Given the description of an element on the screen output the (x, y) to click on. 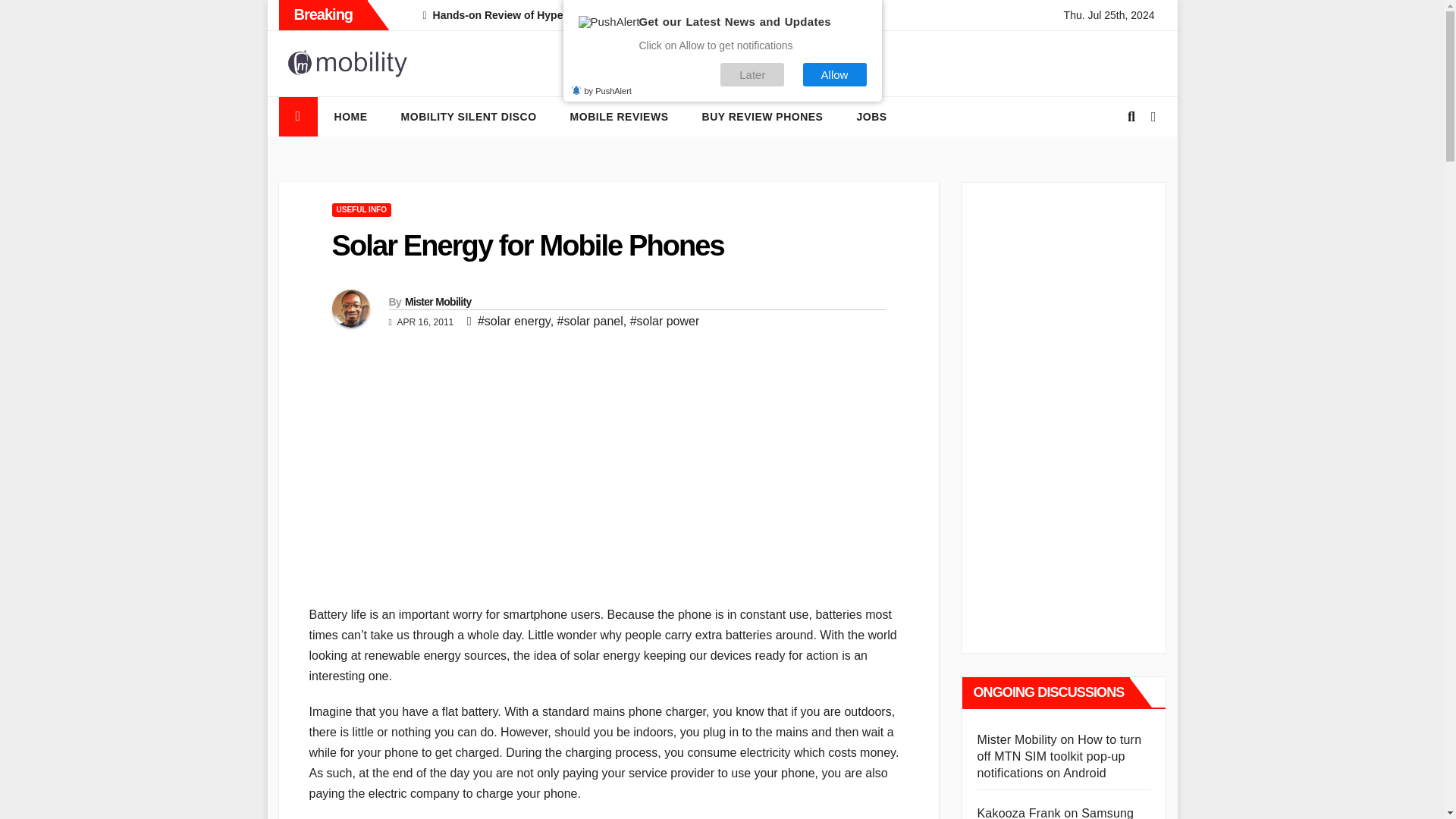
MOBILE REVIEWS (619, 116)
JOBS (871, 116)
HOME (350, 116)
USEFUL INFO (361, 210)
BUY REVIEW PHONES (762, 116)
Mobility Silent Disco (468, 116)
Mister Mobility (437, 301)
Jobs (871, 116)
Solar Energy for Mobile Phones (527, 245)
Buy Review Phones (762, 116)
Permalink to: Solar Energy for Mobile Phones (527, 245)
Advertisement (608, 490)
The foldable iPhone might remain a ghost until 2027 (873, 15)
Mobile Reviews (619, 116)
Home (350, 116)
